Given the description of an element on the screen output the (x, y) to click on. 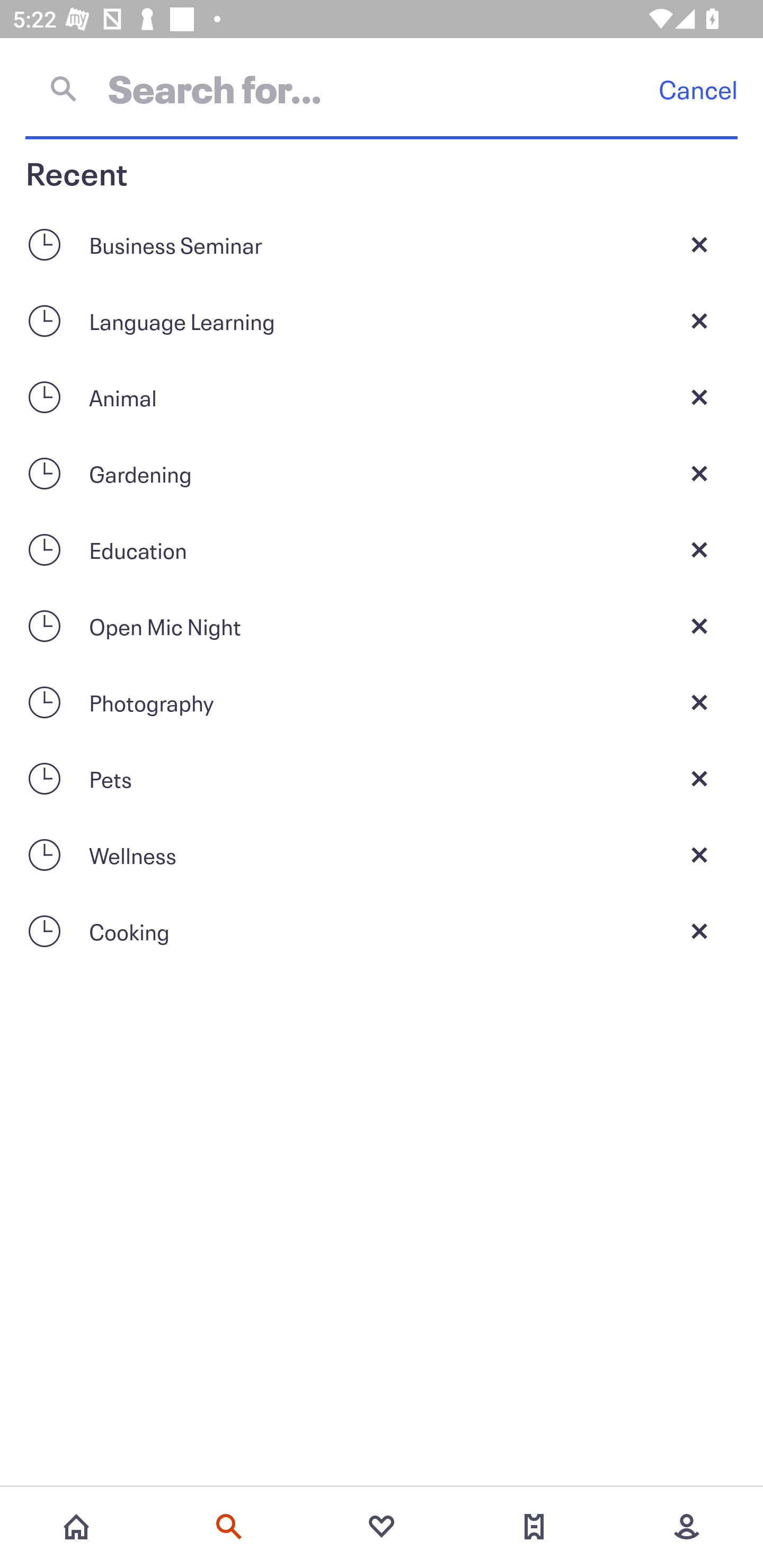
Cancel Search for… (381, 88)
Cancel (697, 89)
Business Seminar Close current screen (381, 244)
Close current screen (699, 244)
Language Learning Close current screen (381, 320)
Close current screen (699, 320)
Animal Close current screen (381, 397)
Close current screen (699, 397)
Gardening Close current screen (381, 473)
Close current screen (699, 473)
Education Close current screen (381, 549)
Close current screen (699, 549)
Open Mic Night Close current screen (381, 626)
Close current screen (699, 626)
Photography Close current screen (381, 702)
Close current screen (699, 702)
Pets Close current screen (381, 778)
Close current screen (699, 778)
Wellness Close current screen (381, 854)
Close current screen (699, 854)
Cooking Close current screen (381, 931)
Close current screen (699, 931)
Home (76, 1526)
Search events (228, 1526)
Favorites (381, 1526)
Tickets (533, 1526)
More (686, 1526)
